Given the description of an element on the screen output the (x, y) to click on. 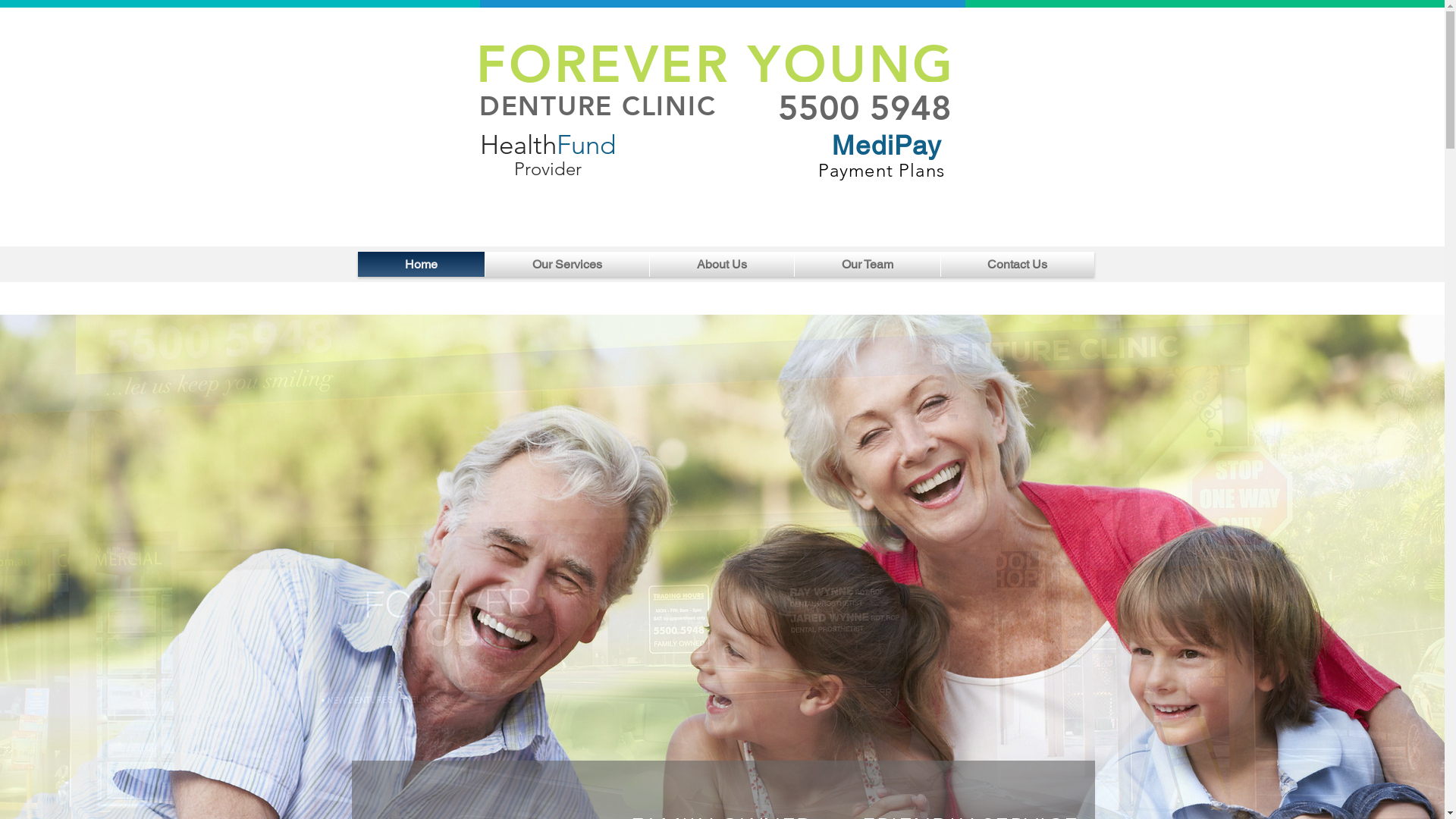
Contact Us Element type: text (1016, 263)
About Us Element type: text (721, 263)
DENTURE CLINIC Element type: text (597, 105)
5500 5948 Element type: text (864, 107)
FOREVER YOUNG  Element type: text (724, 63)
Our Team Element type: text (867, 263)
Home Element type: text (420, 263)
Our Services Element type: text (567, 263)
